Given the description of an element on the screen output the (x, y) to click on. 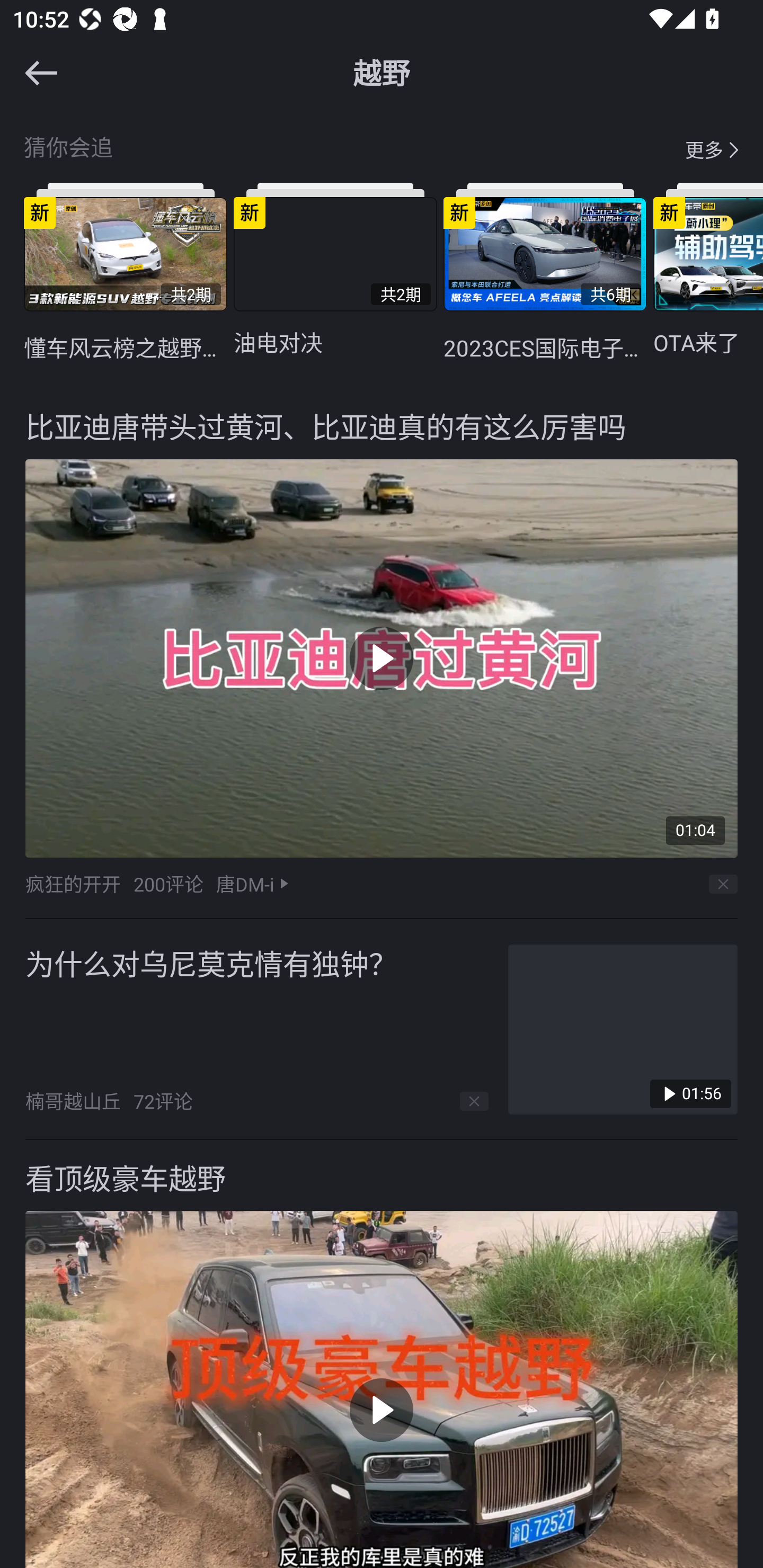
 (30, 72)
更多 (704, 149)
共2期 懂车风云榜之越野测试榜 (125, 272)
共2期 油电对决 (335, 268)
共6期 2023CES国际电子消费展 (545, 272)
OTA来了 (708, 268)
比亚迪唐带头过黄河、比亚迪真的有这么厉害吗  01:04 疯狂的开开 200评论 唐DM-i (381, 653)
唐DM-i (244, 883)
为什么对乌尼莫克情有独钟？ 楠哥越山丘 72评论  01:56 (381, 1028)
看顶级豪车越野  (381, 1353)
